Given the description of an element on the screen output the (x, y) to click on. 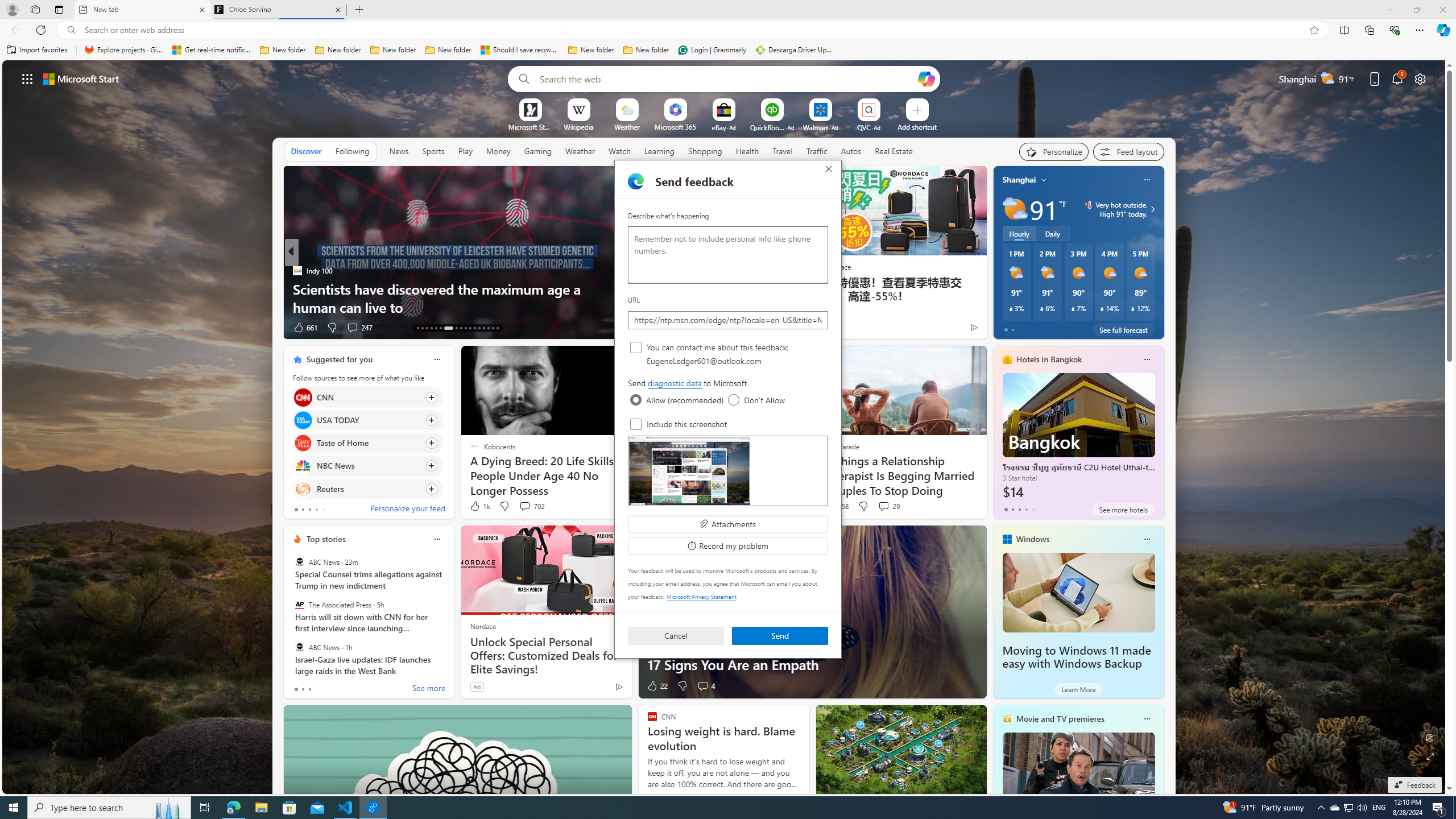
Sports (432, 151)
View comments 42 Comment (6, 327)
AutomationID: tab-23 (470, 328)
View comments 702 Comment (530, 505)
Taste of Home (302, 443)
Autos (851, 151)
Search highlights icon opens search home window (167, 807)
View comments 4 Comment (705, 685)
Page settings (1420, 78)
